Given the description of an element on the screen output the (x, y) to click on. 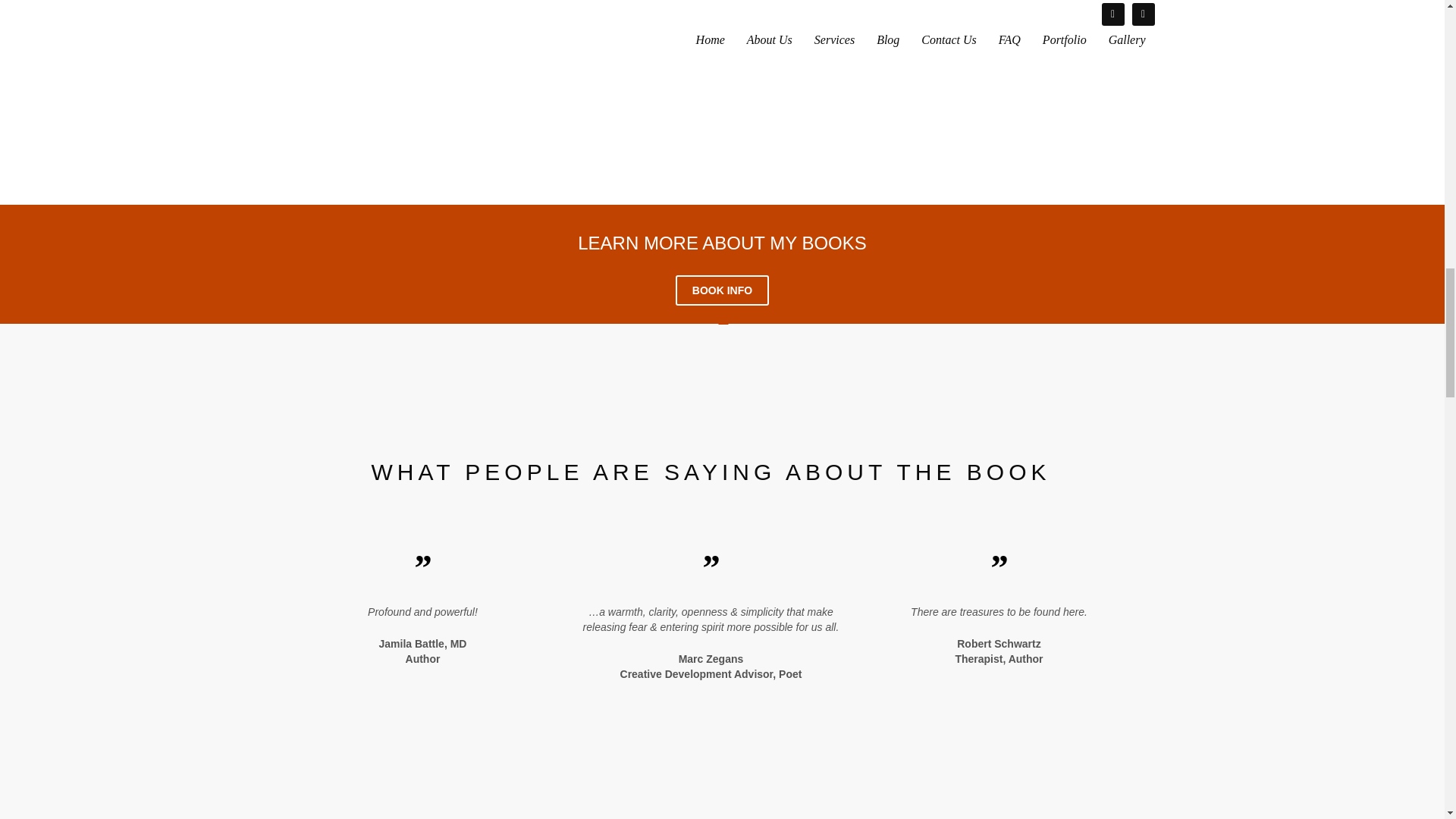
BOOK INFO (721, 290)
